Given the description of an element on the screen output the (x, y) to click on. 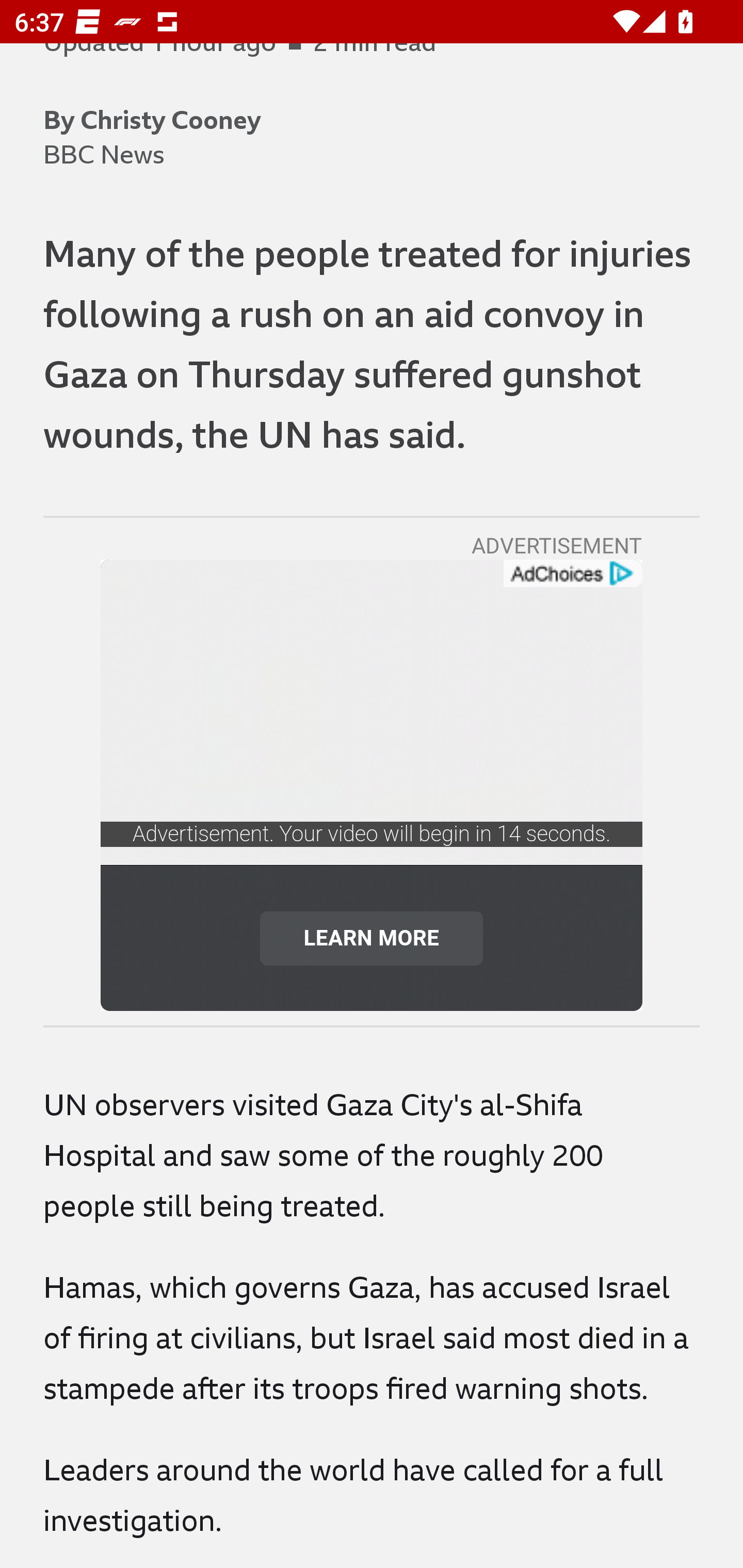
get?name=admarker-full-tl (571, 573)
LEARN MORE (371, 937)
